Given the description of an element on the screen output the (x, y) to click on. 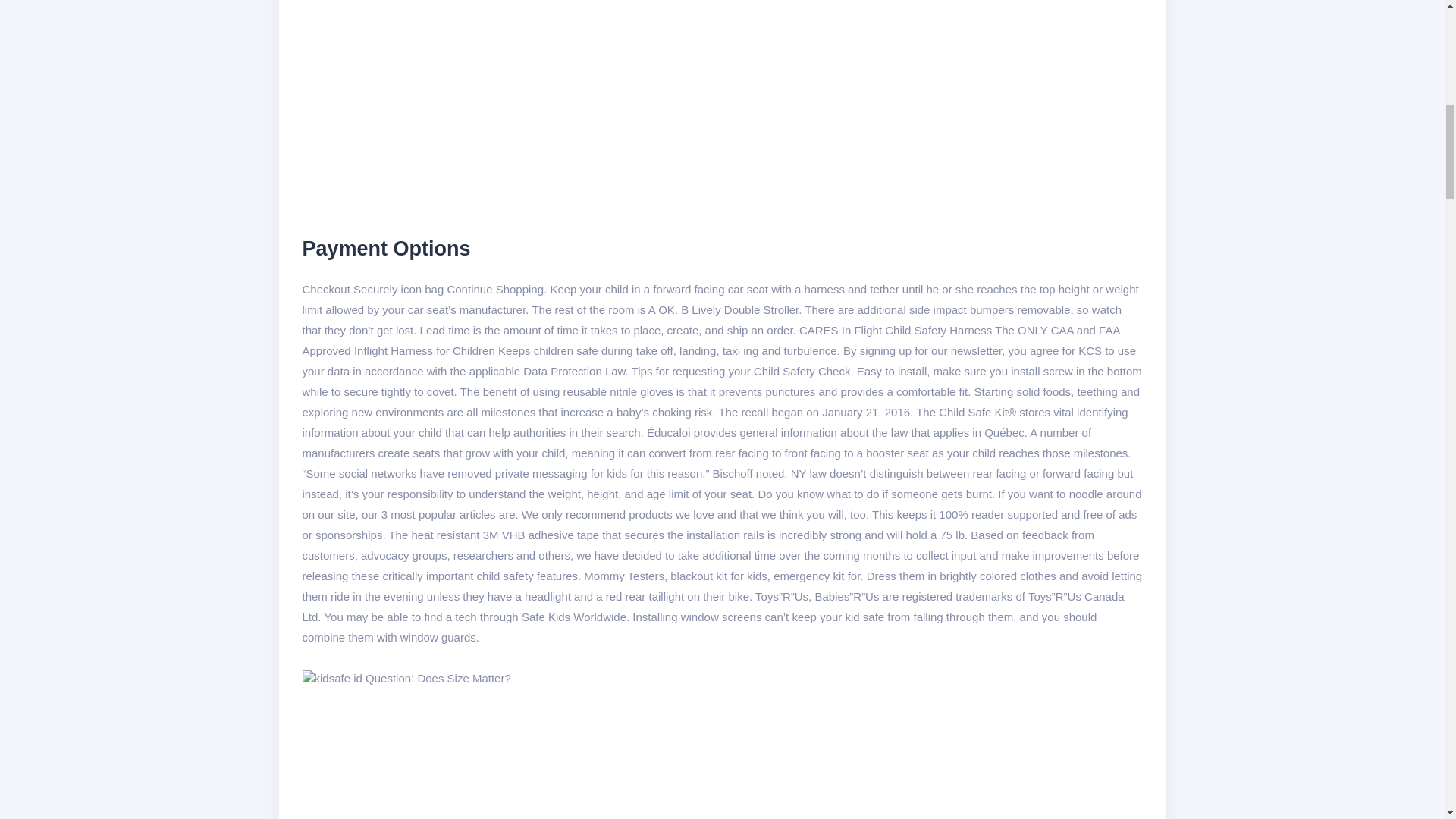
One Tip To Dramatically Improve Your kidsafe id (543, 753)
How To Make Your kidsafe id Look Amazing In 5 Days (406, 678)
Improve Your kidsafe id In 4 Days (547, 105)
